Given the description of an element on the screen output the (x, y) to click on. 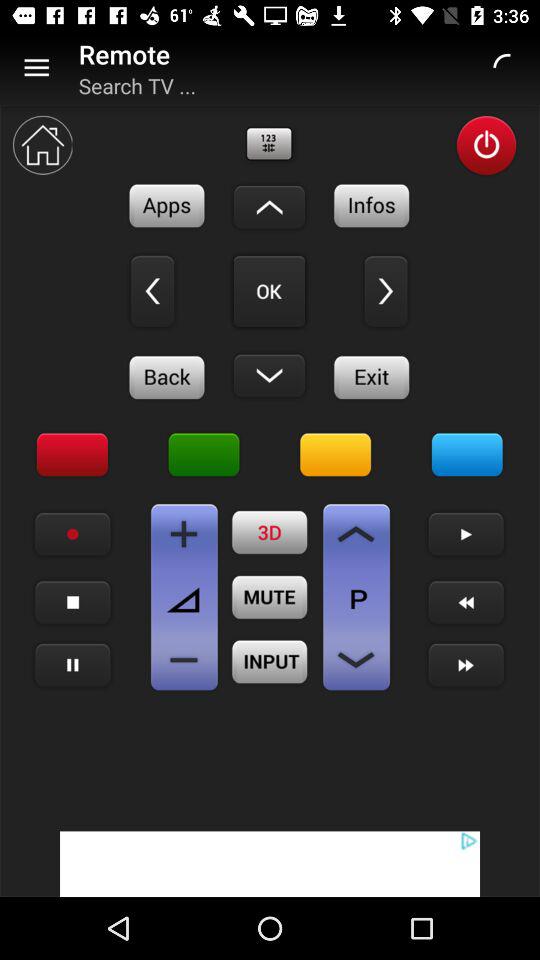
applications button on remote (167, 205)
